Given the description of an element on the screen output the (x, y) to click on. 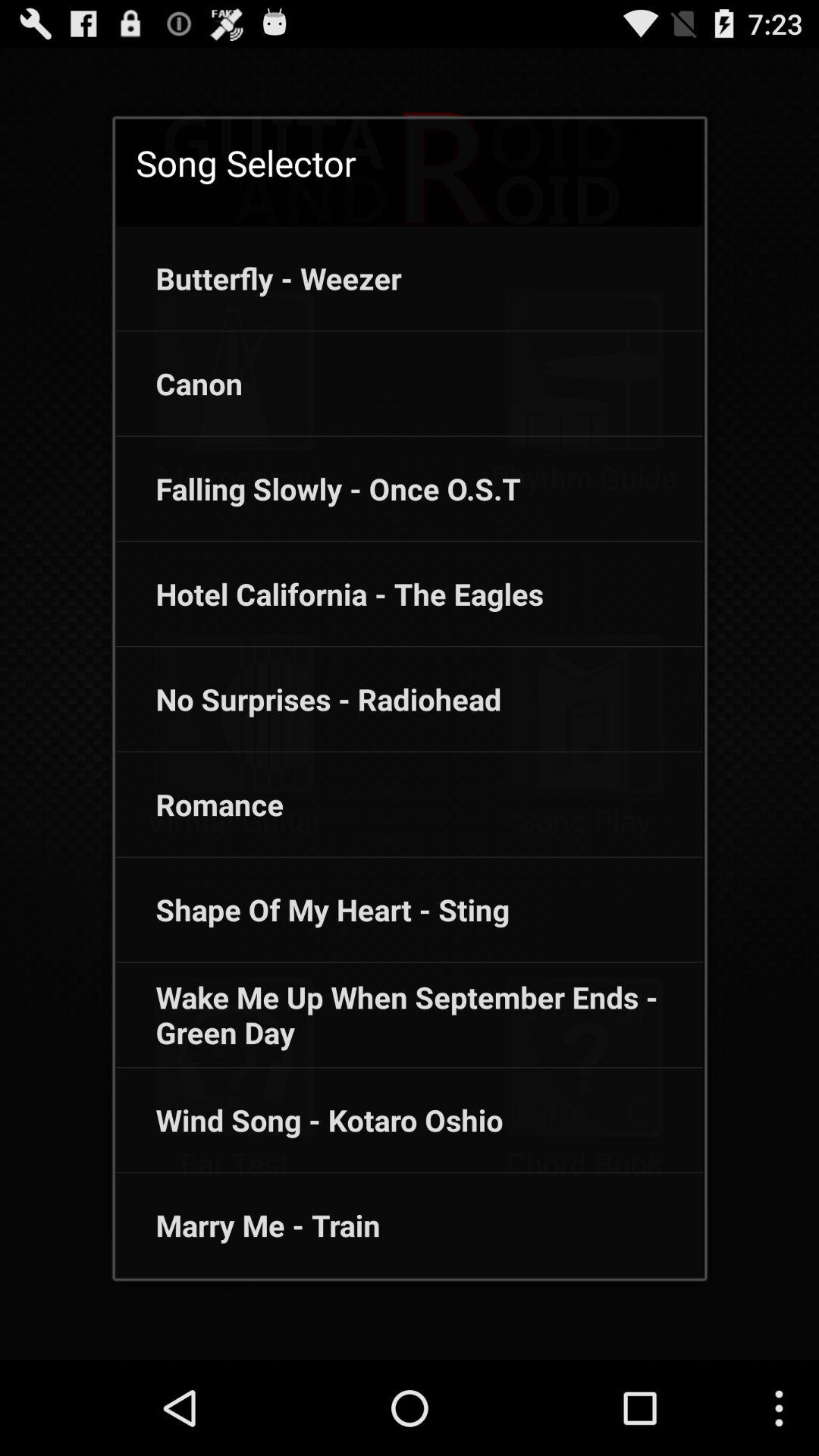
scroll until falling slowly once (318, 488)
